Given the description of an element on the screen output the (x, y) to click on. 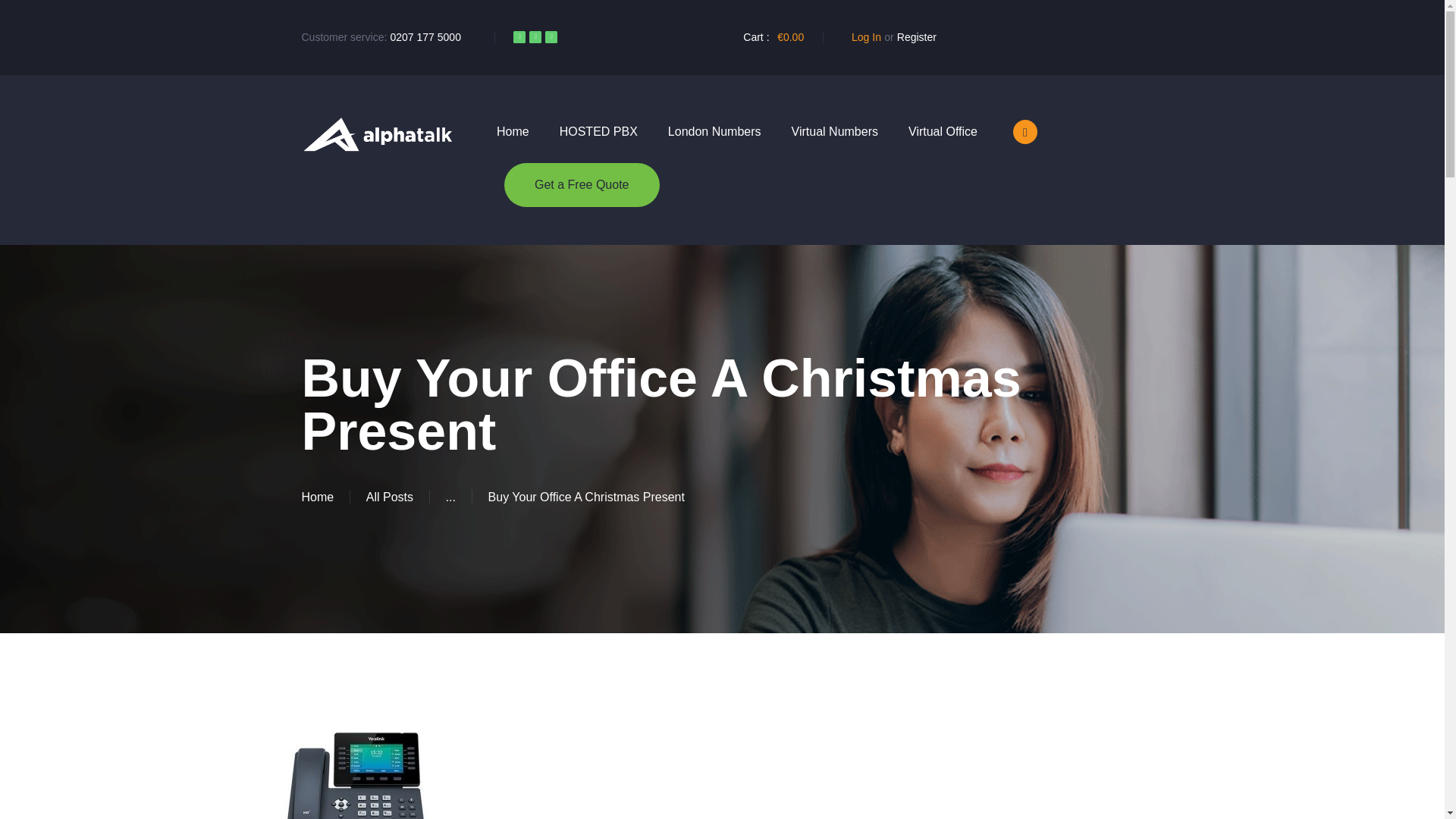
Log In or Register (888, 37)
Get a Free Quote (581, 184)
0207 177 5000 (425, 37)
Home (512, 131)
Virtual Numbers (834, 131)
Virtual Office (942, 131)
All Posts (389, 496)
Home (317, 496)
HOSTED PBX (598, 131)
London Numbers (714, 131)
